Given the description of an element on the screen output the (x, y) to click on. 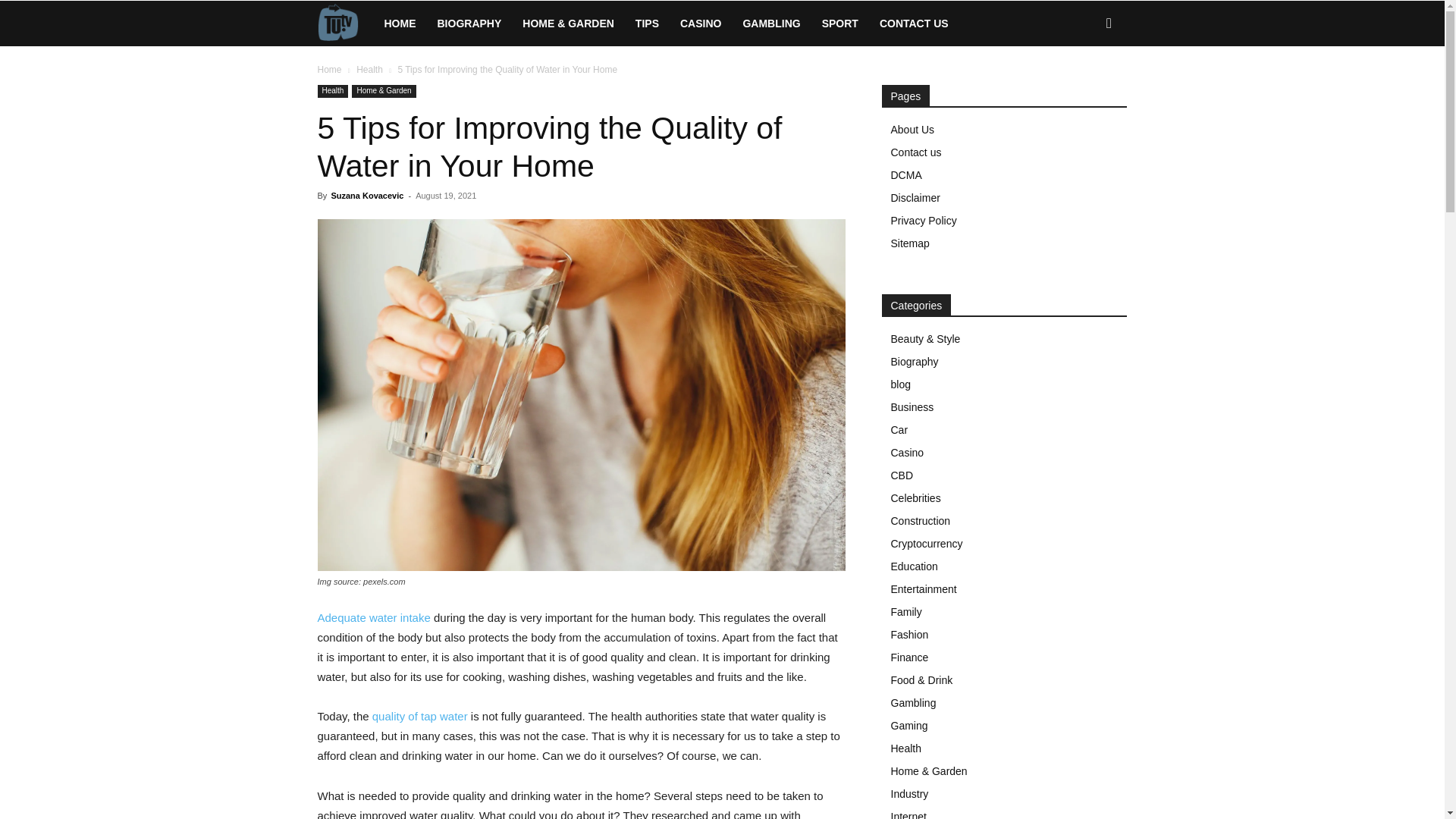
SPORT (839, 22)
Health (369, 69)
GAMBLING (771, 22)
CONTACT US (914, 22)
HOME (399, 22)
Suzana Kovacevic (366, 194)
TIPS (646, 22)
Home (328, 69)
Search (1085, 88)
